Given the description of an element on the screen output the (x, y) to click on. 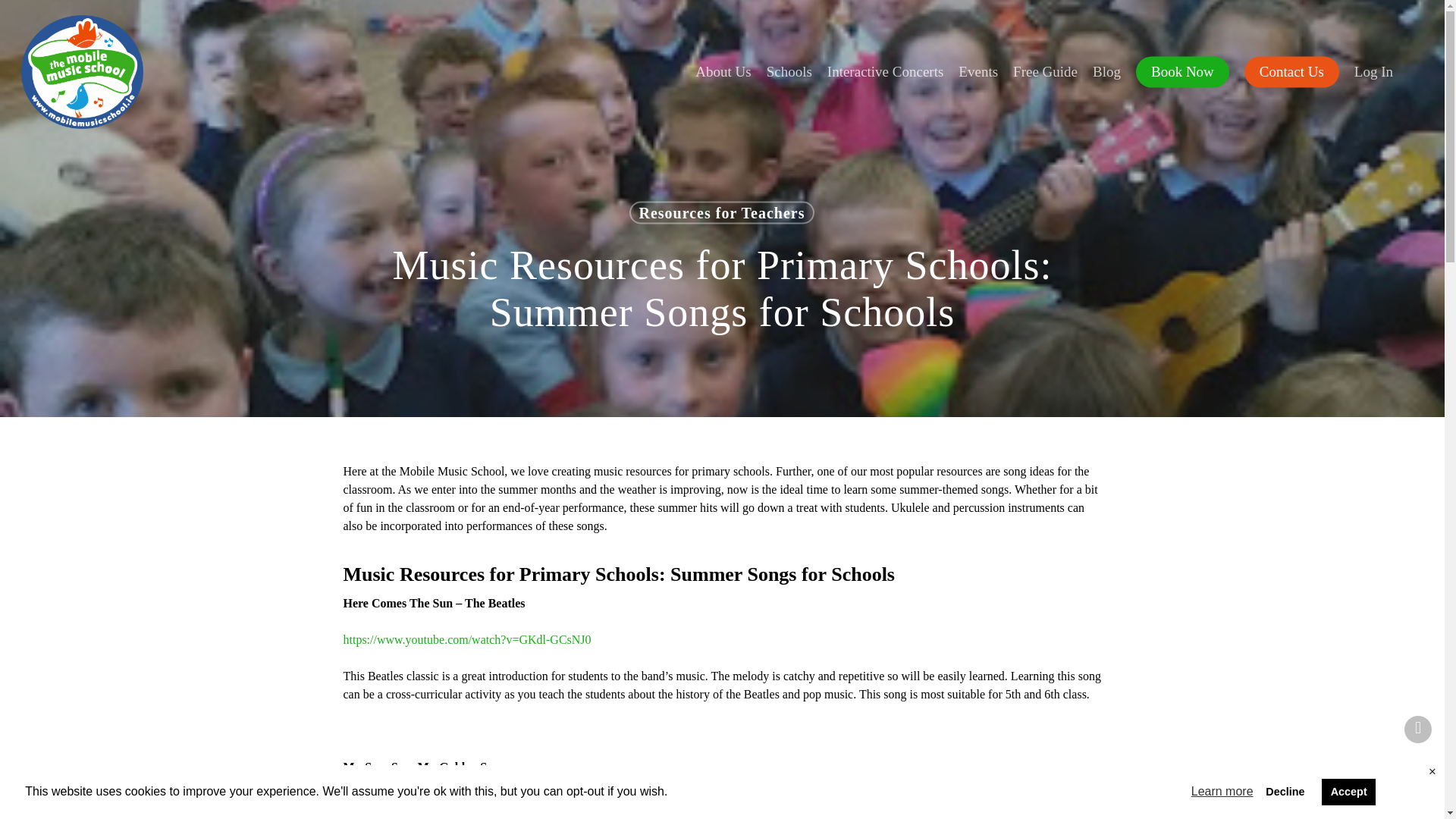
Schools (788, 72)
Log In (1373, 72)
Book Now (1181, 72)
Contact Us (1291, 72)
Resources for Teachers (720, 212)
Decline (1284, 791)
Interactive Concerts (885, 72)
Free Guide (1045, 72)
Blog (1106, 72)
Book Now (1181, 72)
Learn more (1222, 791)
Accept (1348, 791)
Blog (1106, 72)
Contact Us (1291, 72)
Events (978, 72)
